Given the description of an element on the screen output the (x, y) to click on. 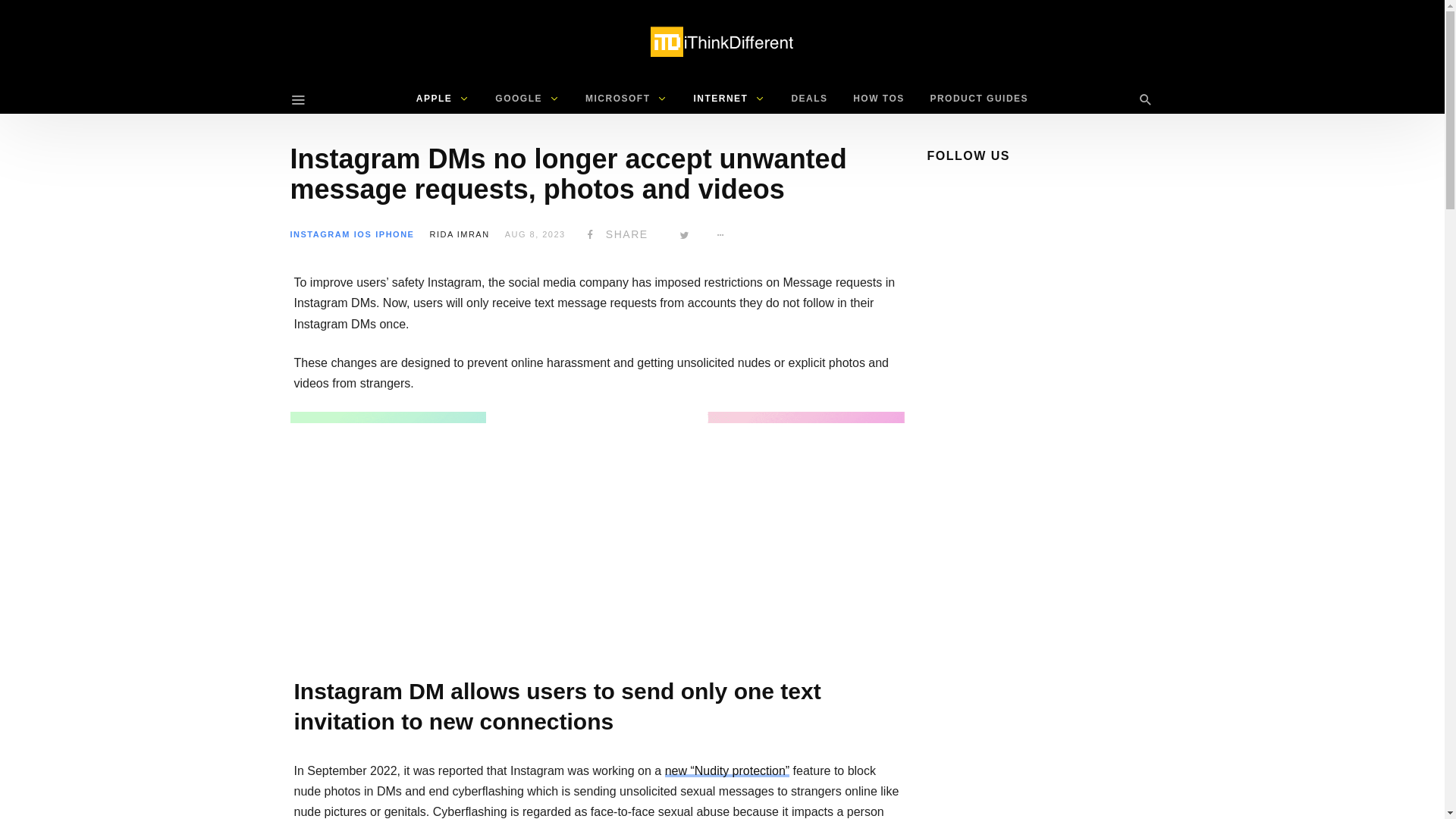
HOW TOS (878, 98)
View all posts in iPhone (394, 234)
MICROSOFT (626, 98)
APPLE (442, 98)
SHARE (614, 234)
RIDA IMRAN (459, 234)
Share on Twitter (684, 234)
PRODUCT GUIDES (978, 98)
Posts by Rida Imran (459, 234)
More (721, 234)
